Given the description of an element on the screen output the (x, y) to click on. 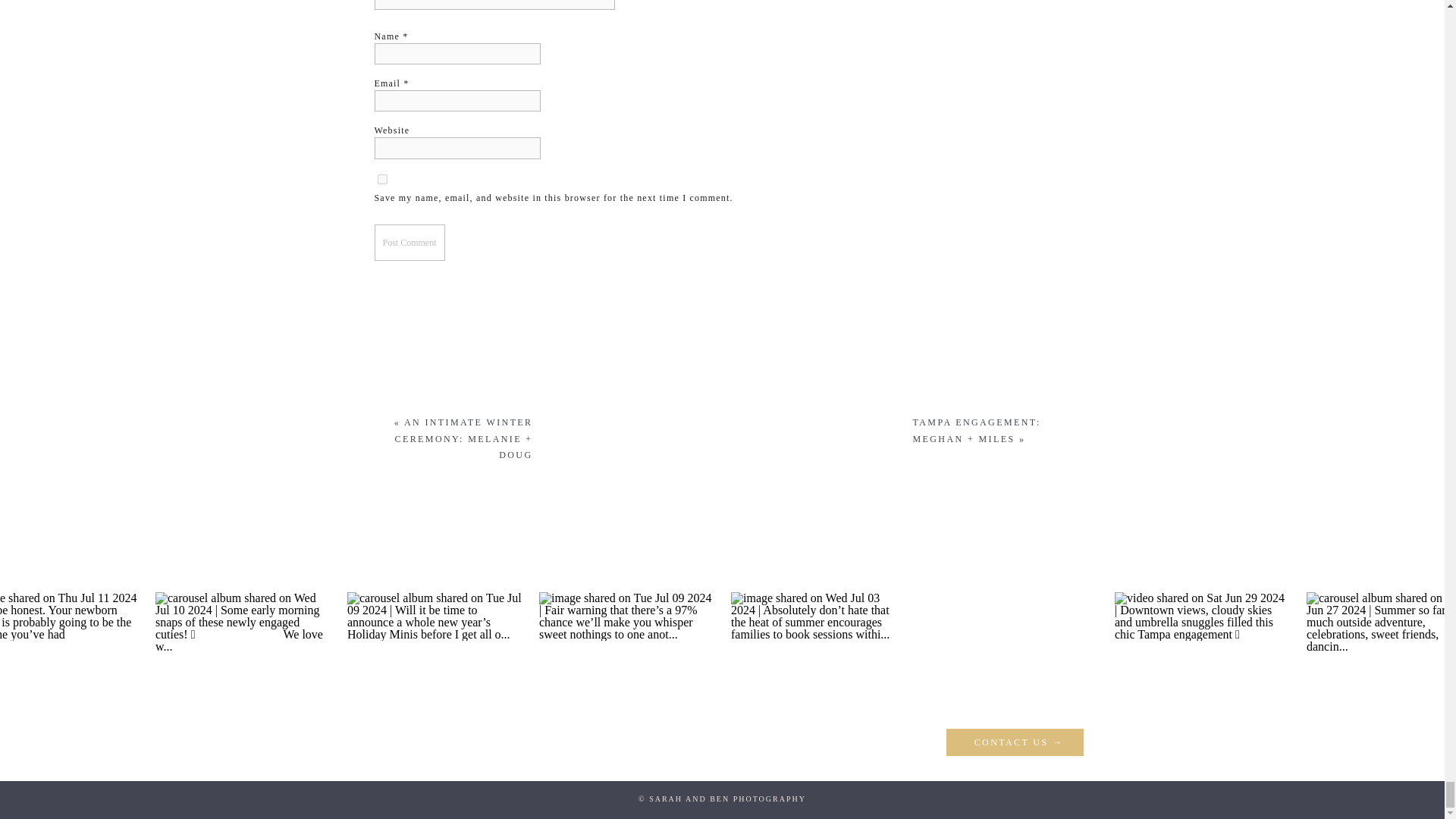
yes (382, 179)
Post Comment (409, 242)
